Given the description of an element on the screen output the (x, y) to click on. 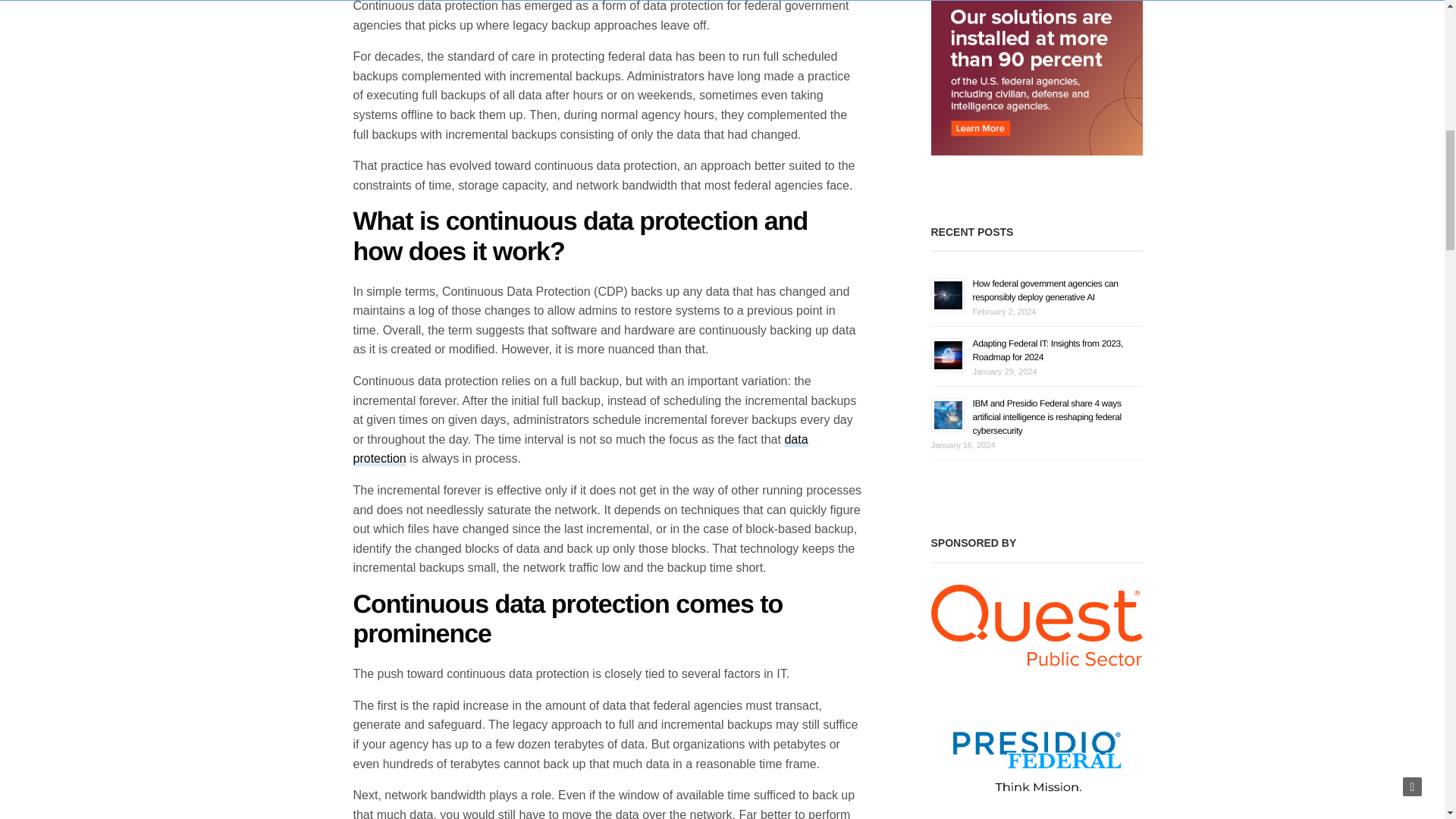
data protection (580, 449)
